Given the description of an element on the screen output the (x, y) to click on. 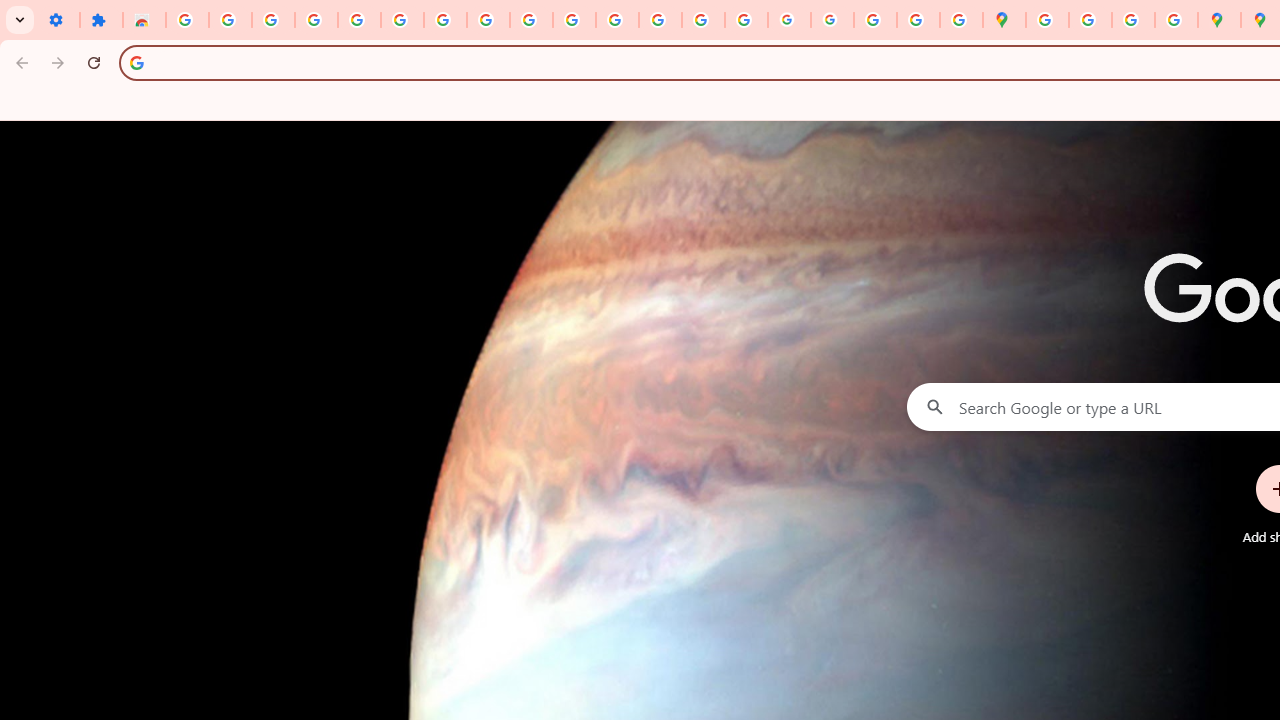
Delete photos & videos - Computer - Google Photos Help (273, 20)
Google Maps (1004, 20)
Settings - On startup (58, 20)
YouTube (530, 20)
